Given the description of an element on the screen output the (x, y) to click on. 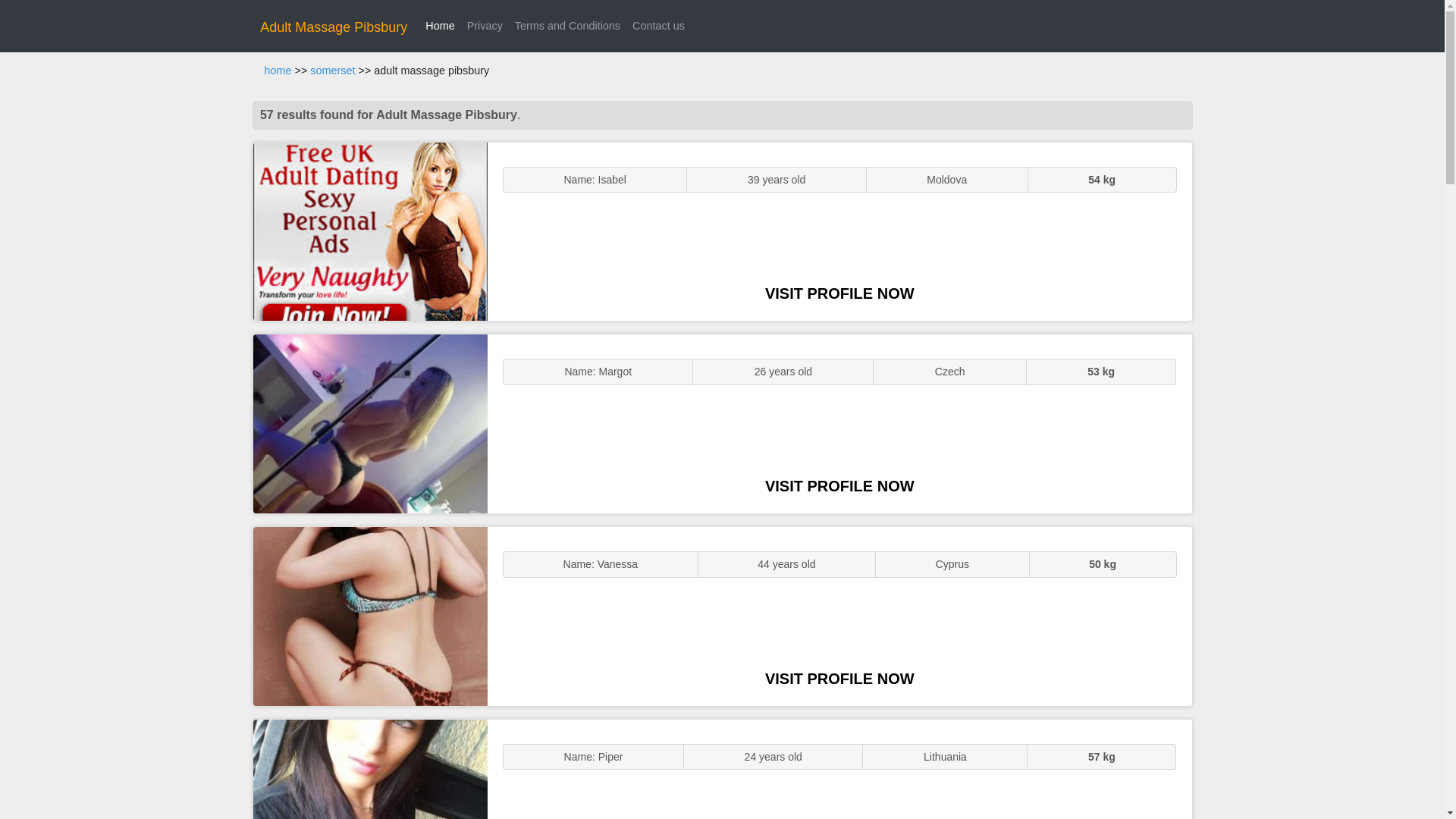
Terms and Conditions (567, 25)
Privacy (484, 25)
Sexy (370, 616)
Adult Massage Pibsbury (333, 27)
VISIT PROFILE NOW (839, 293)
home (277, 70)
Sluts (370, 769)
Contact us (658, 25)
somerset (332, 70)
 ENGLISH STUNNER (370, 231)
VISIT PROFILE NOW (839, 485)
GFE (370, 423)
VISIT PROFILE NOW (839, 678)
